Given the description of an element on the screen output the (x, y) to click on. 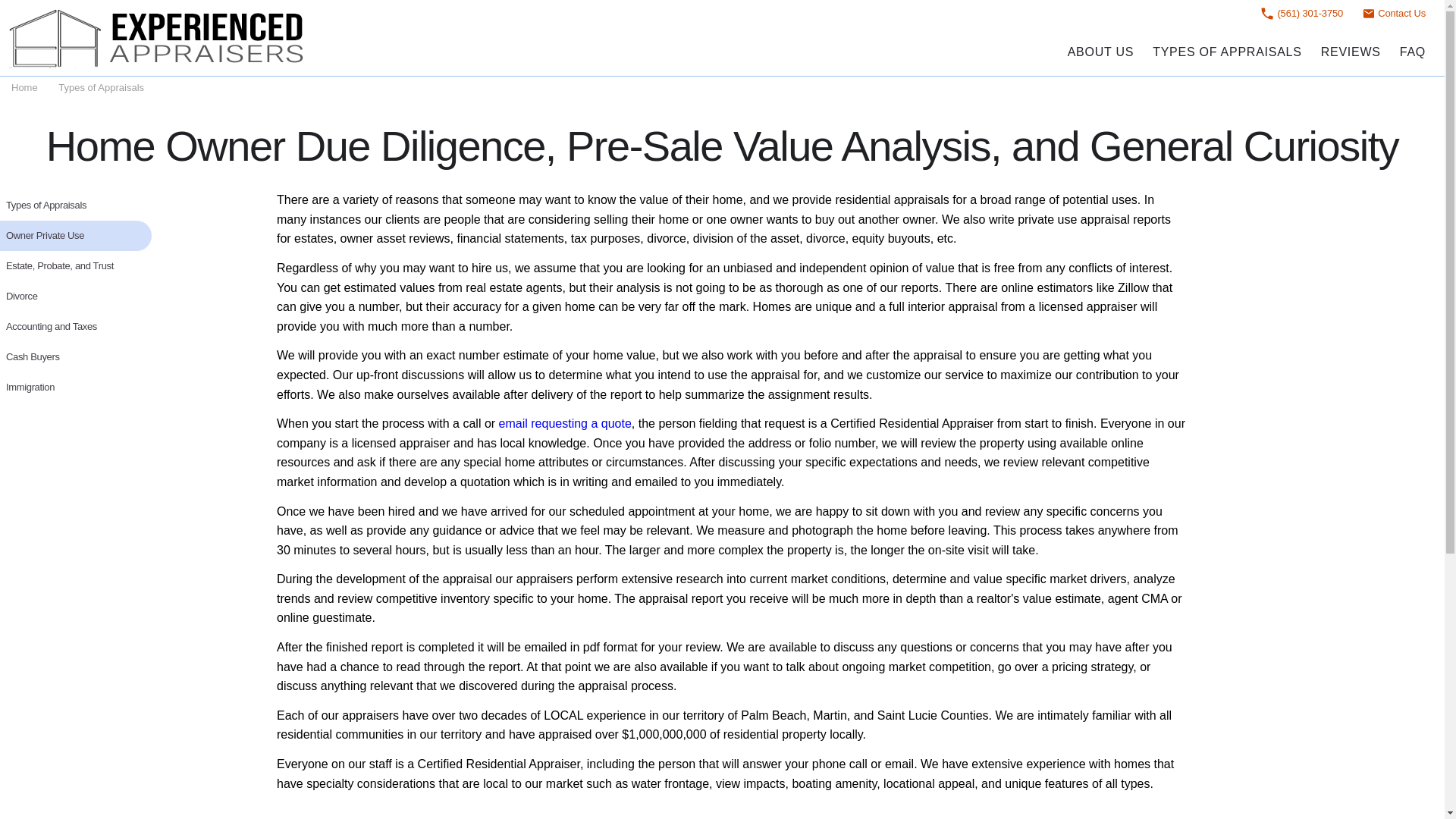
Types of Appraisals (101, 87)
Home (24, 87)
Owner Private Use (75, 235)
Experienced Appraisers Home Page (159, 38)
ABOUT US (1100, 51)
Immigration (75, 387)
Contact Us (1393, 13)
Cash Buyers (75, 357)
Types of Appraisals (75, 205)
TYPES OF APPRAISALS (1227, 51)
REVIEWS (1350, 51)
Divorce (75, 296)
email requesting a quote (565, 422)
Accounting and Taxes (75, 327)
Estate, Probate, and Trust (75, 265)
